Given the description of an element on the screen output the (x, y) to click on. 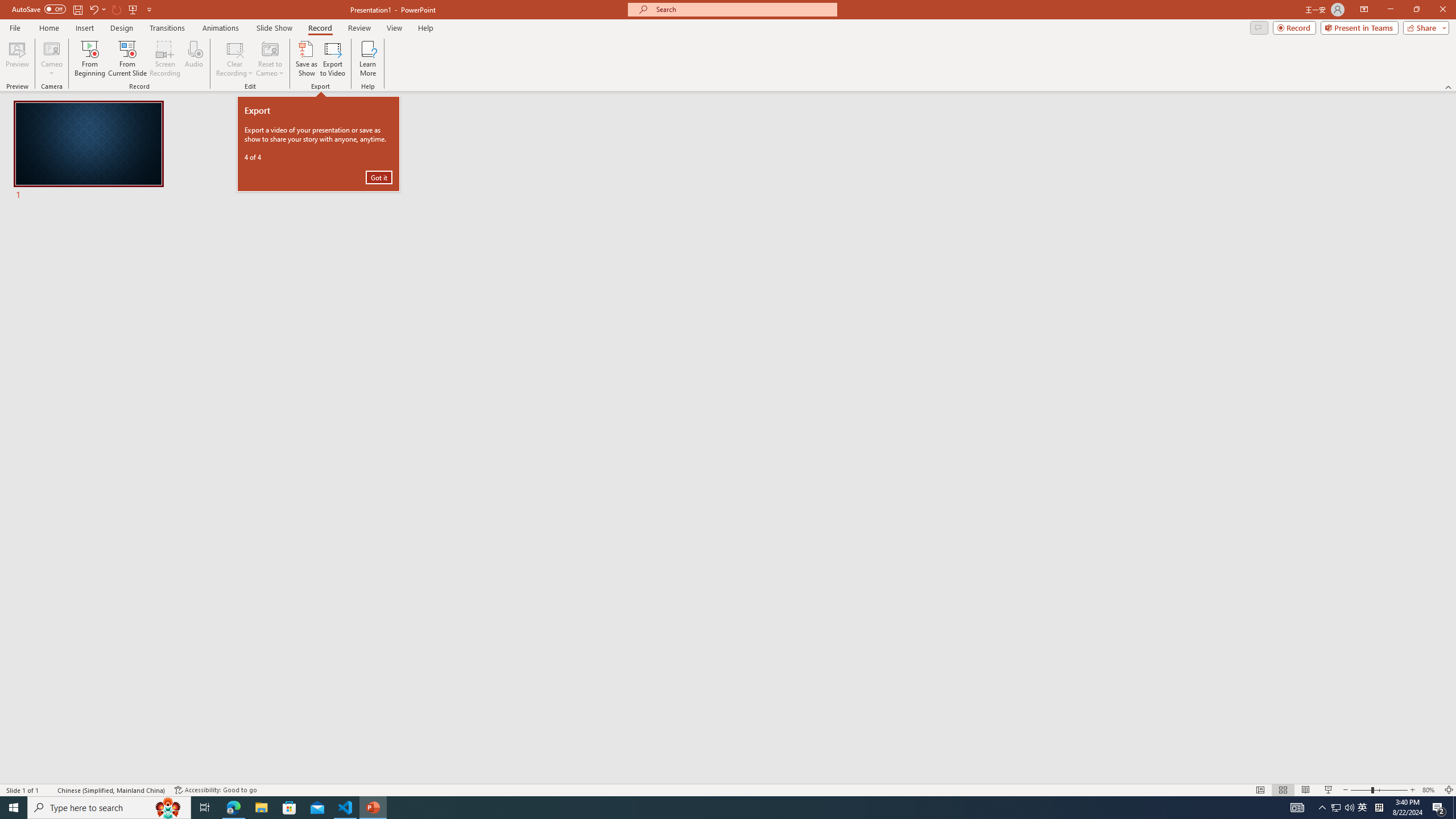
Start (13, 807)
Microsoft Store (289, 807)
Minimize (1390, 9)
Save as Show (306, 58)
Task View (204, 807)
Present in Teams (1359, 27)
From Beginning... (89, 58)
